Given the description of an element on the screen output the (x, y) to click on. 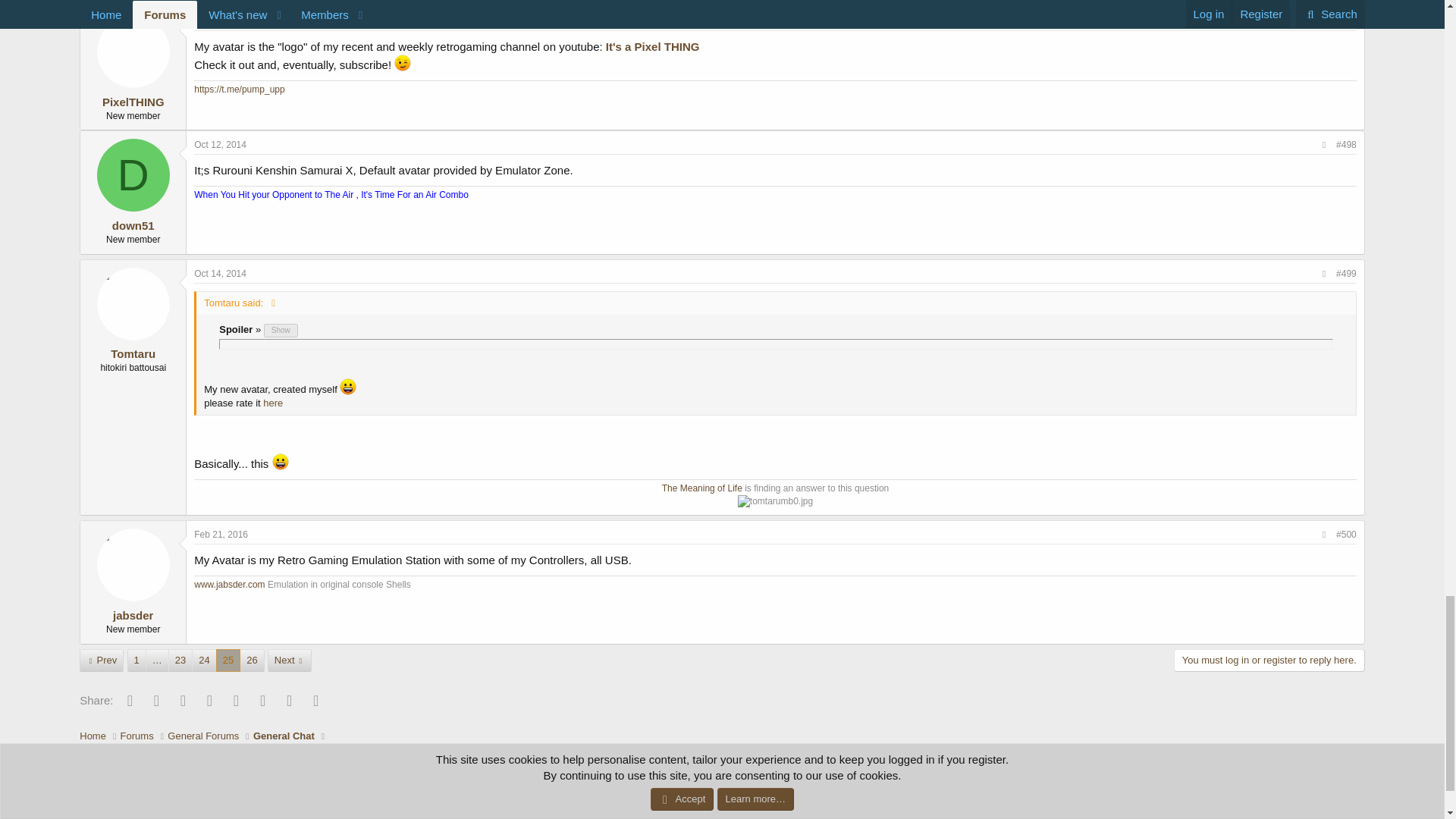
Show (280, 330)
